Given the description of an element on the screen output the (x, y) to click on. 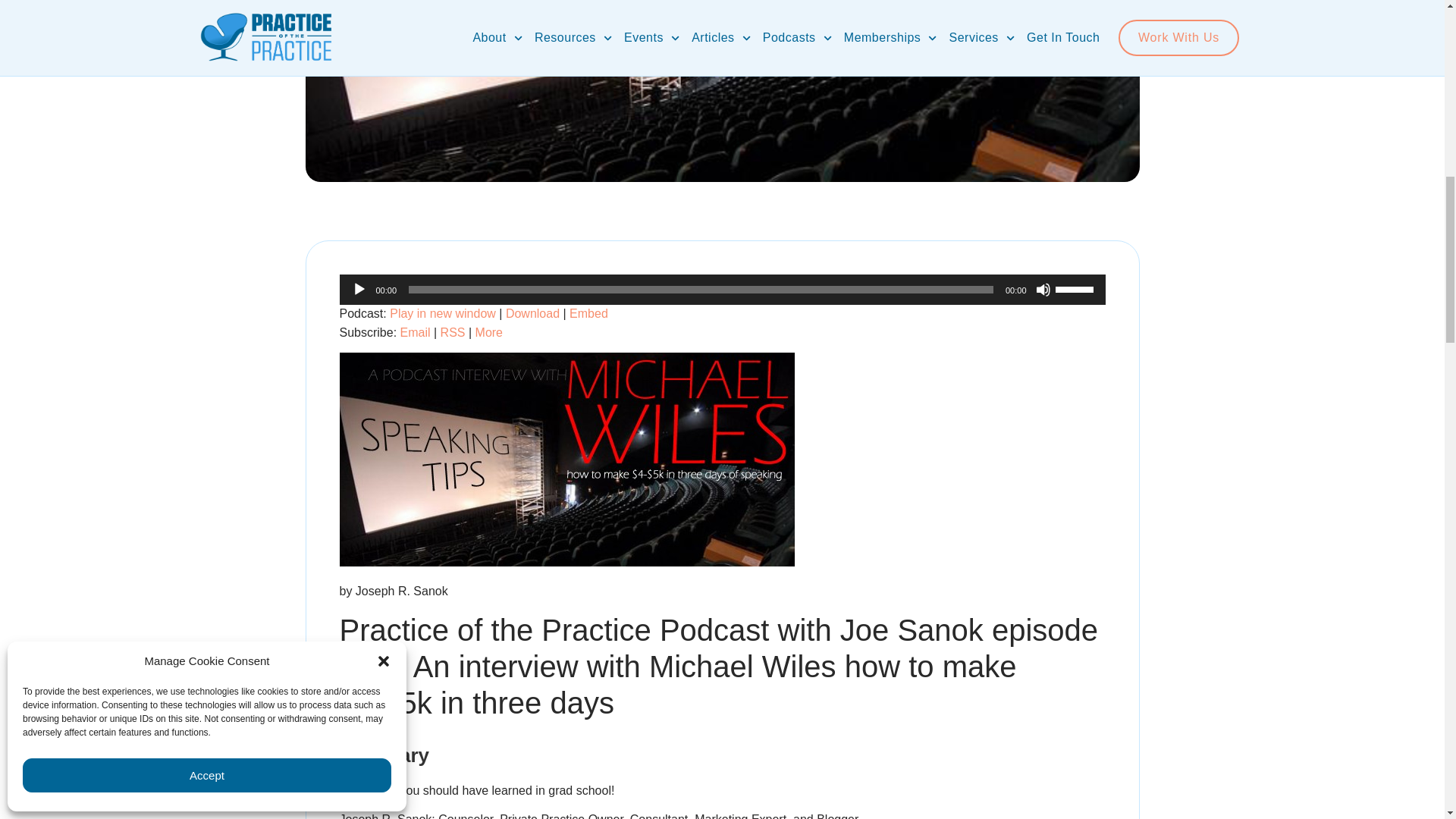
More (489, 332)
Play in new window (443, 313)
Embed (588, 313)
Mute (1043, 289)
Play (359, 289)
Download (532, 313)
Subscribe by Email (415, 332)
Subscribe via RSS (453, 332)
